Given the description of an element on the screen output the (x, y) to click on. 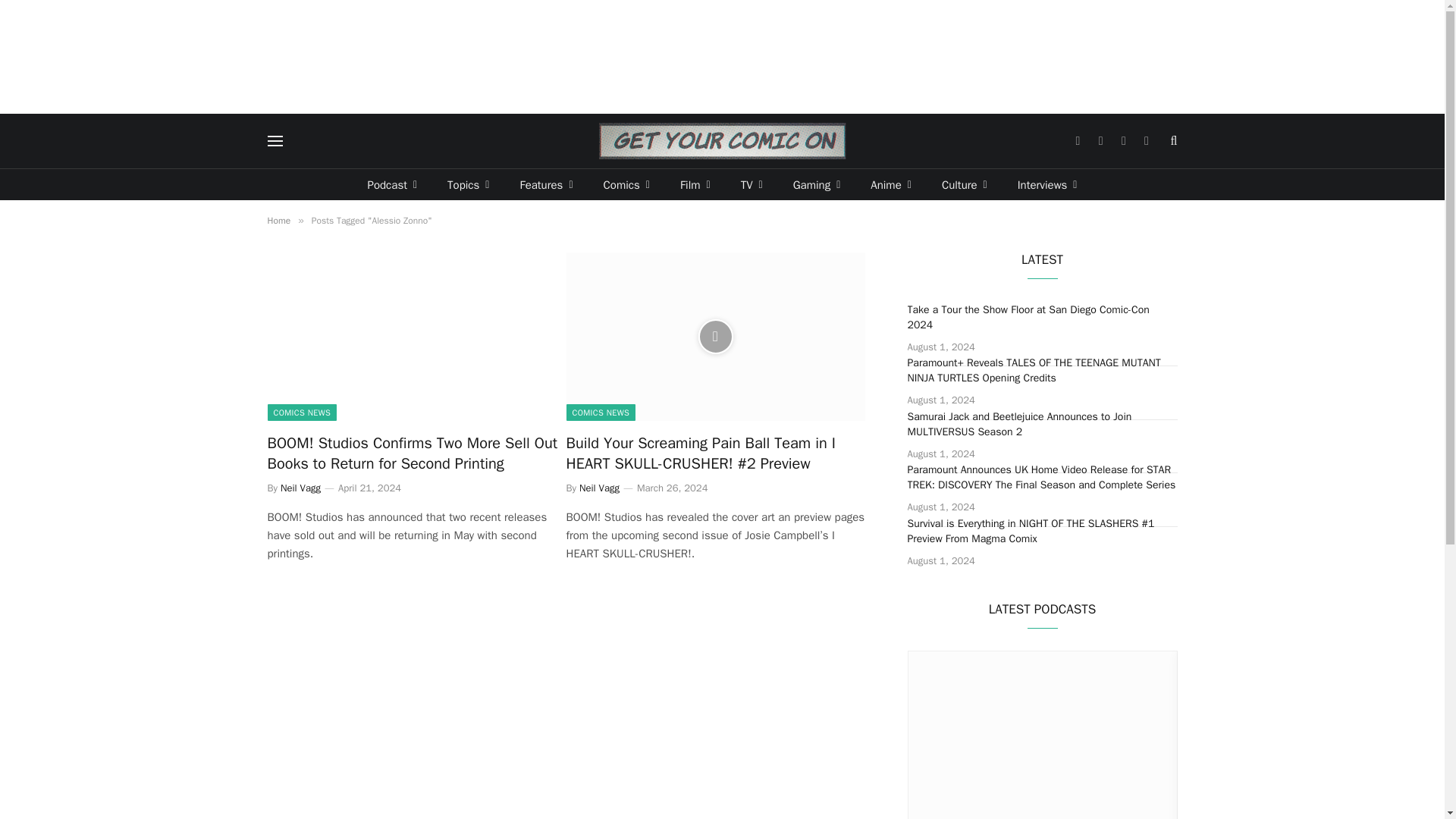
Podcast (392, 183)
Features (545, 183)
Topics (467, 183)
Get Your Comic On (721, 140)
